Given the description of an element on the screen output the (x, y) to click on. 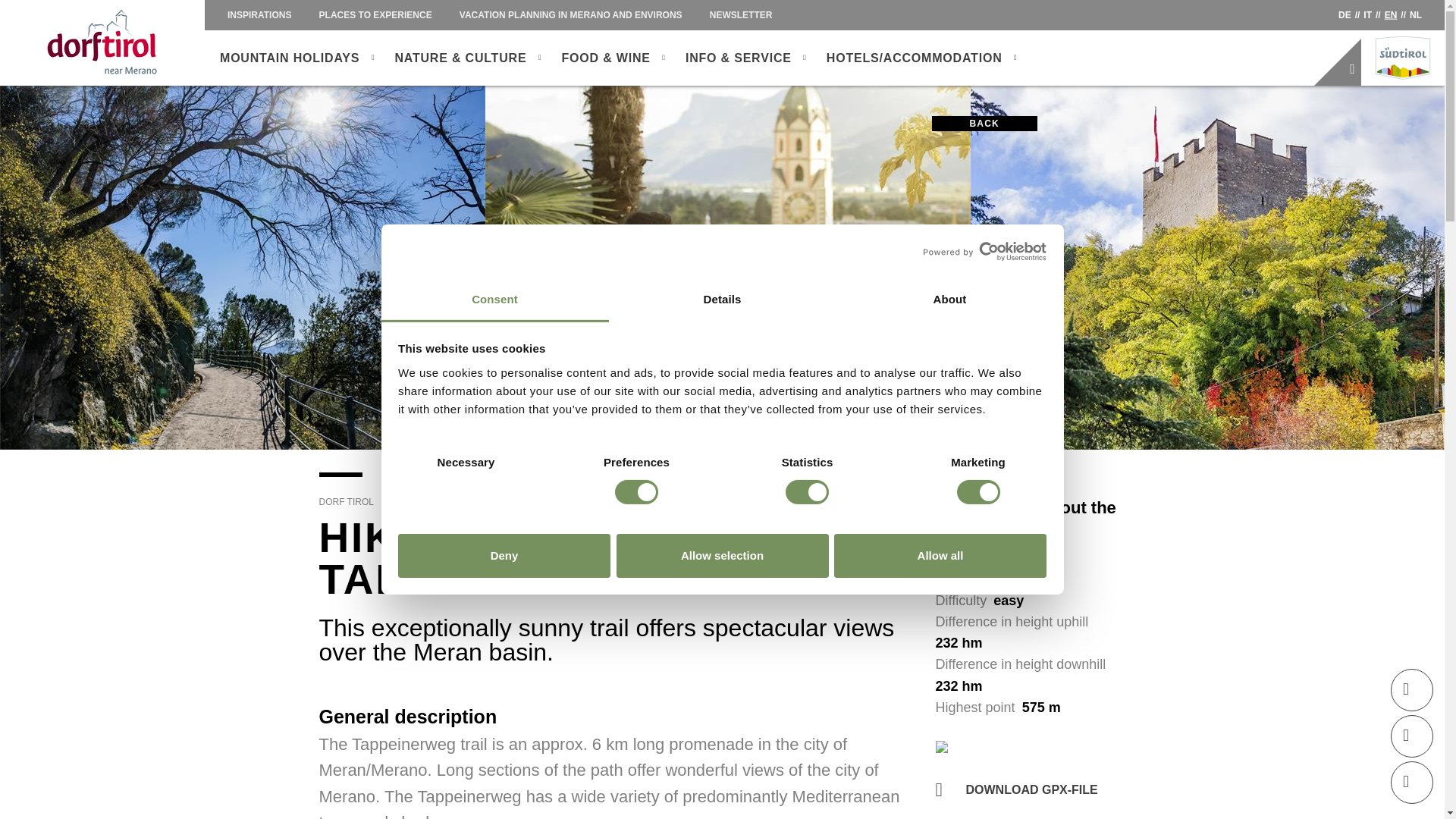
Consent (494, 300)
Details (721, 300)
About (948, 300)
